Given the description of an element on the screen output the (x, y) to click on. 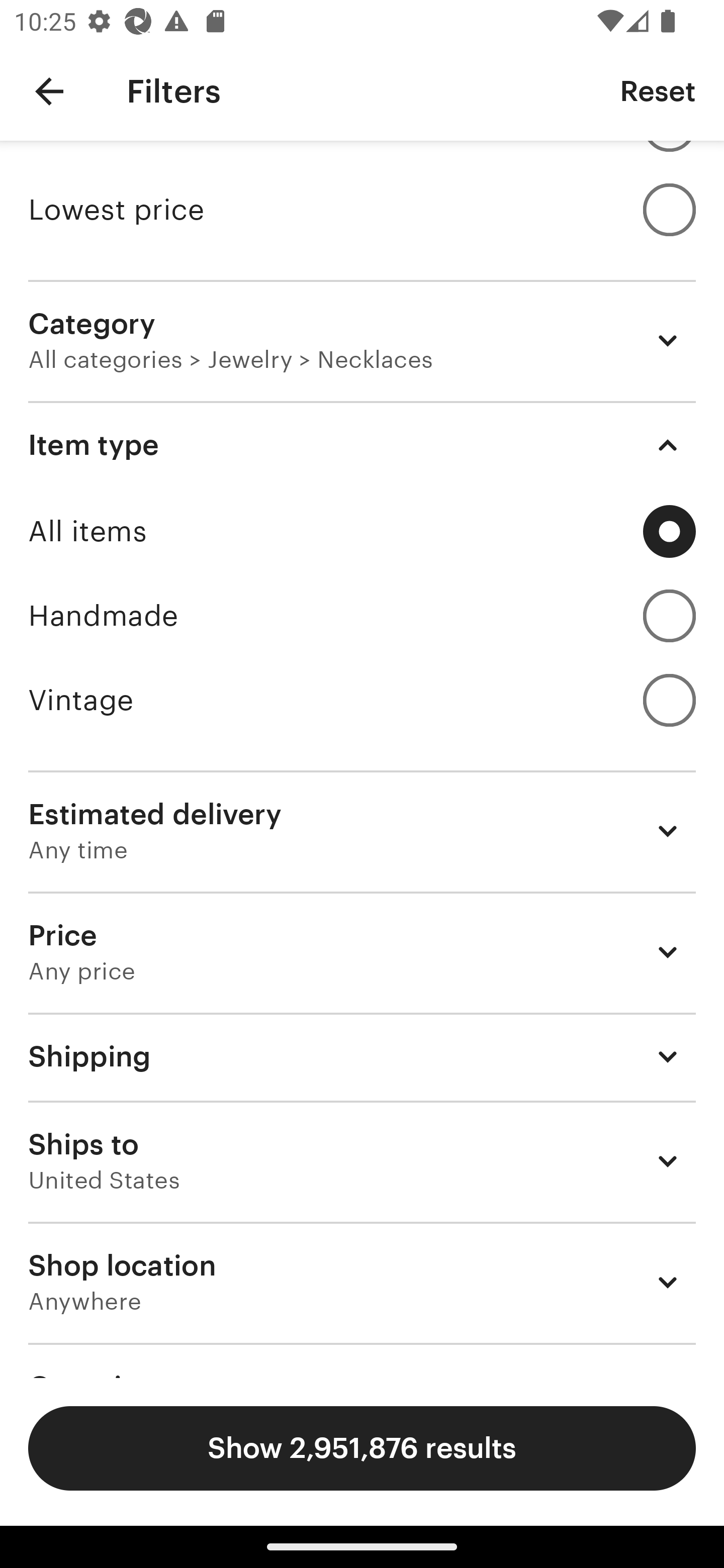
Navigate up (49, 91)
Reset (657, 90)
Lowest price (362, 209)
Category All categories > Jewelry > Necklaces (362, 340)
Item type (362, 445)
All items (362, 531)
Handmade (362, 615)
Vintage (362, 699)
Estimated delivery Any time (362, 830)
Price Any price (362, 952)
Shipping (362, 1056)
Ships to United States (362, 1160)
Shop location Anywhere (362, 1281)
Show 2,951,876 results Show 2,951,914 results (361, 1448)
